Given the description of an element on the screen output the (x, y) to click on. 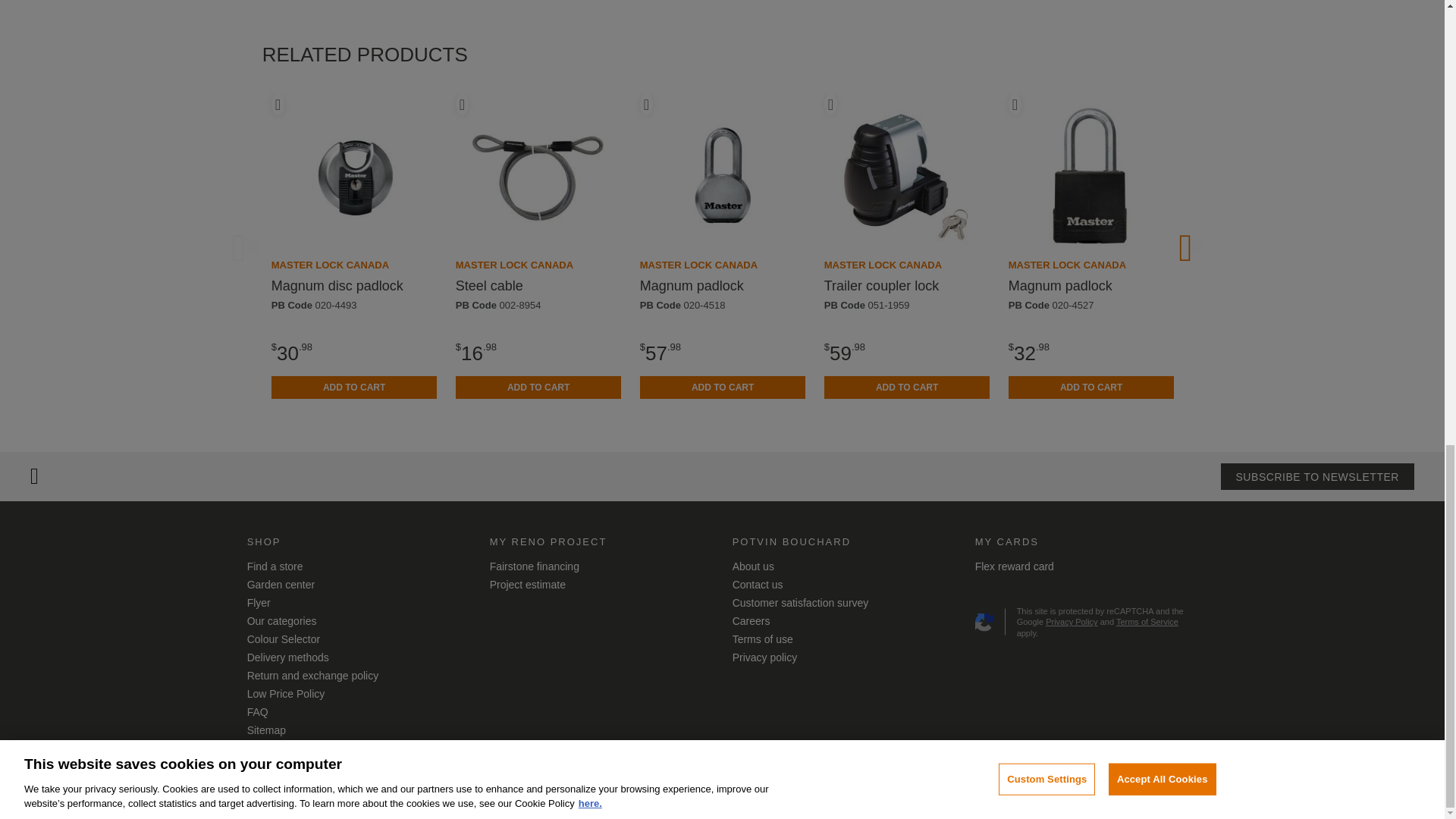
Magnum disc padlock (336, 285)
